Given the description of an element on the screen output the (x, y) to click on. 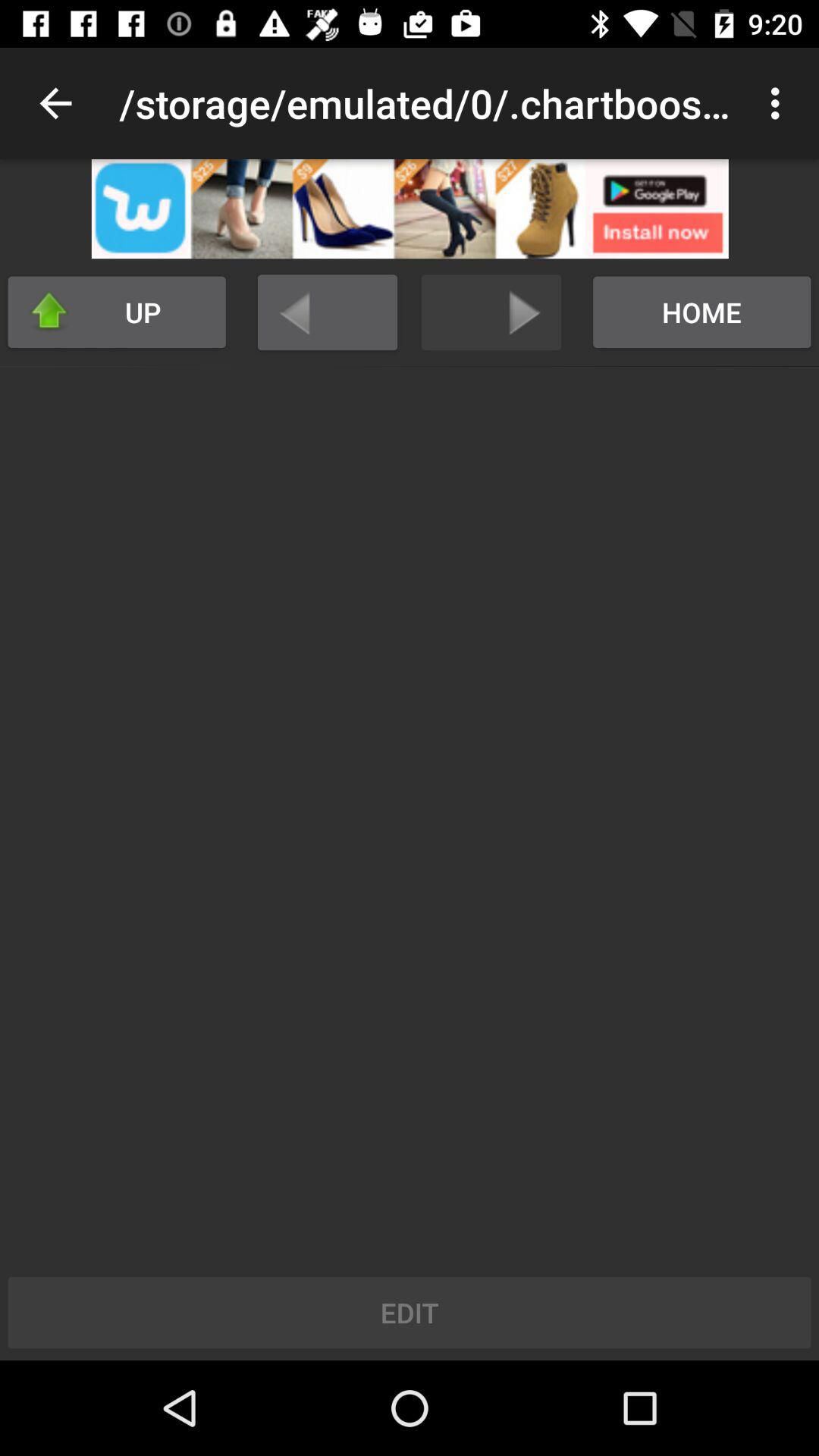
go back (327, 312)
